Given the description of an element on the screen output the (x, y) to click on. 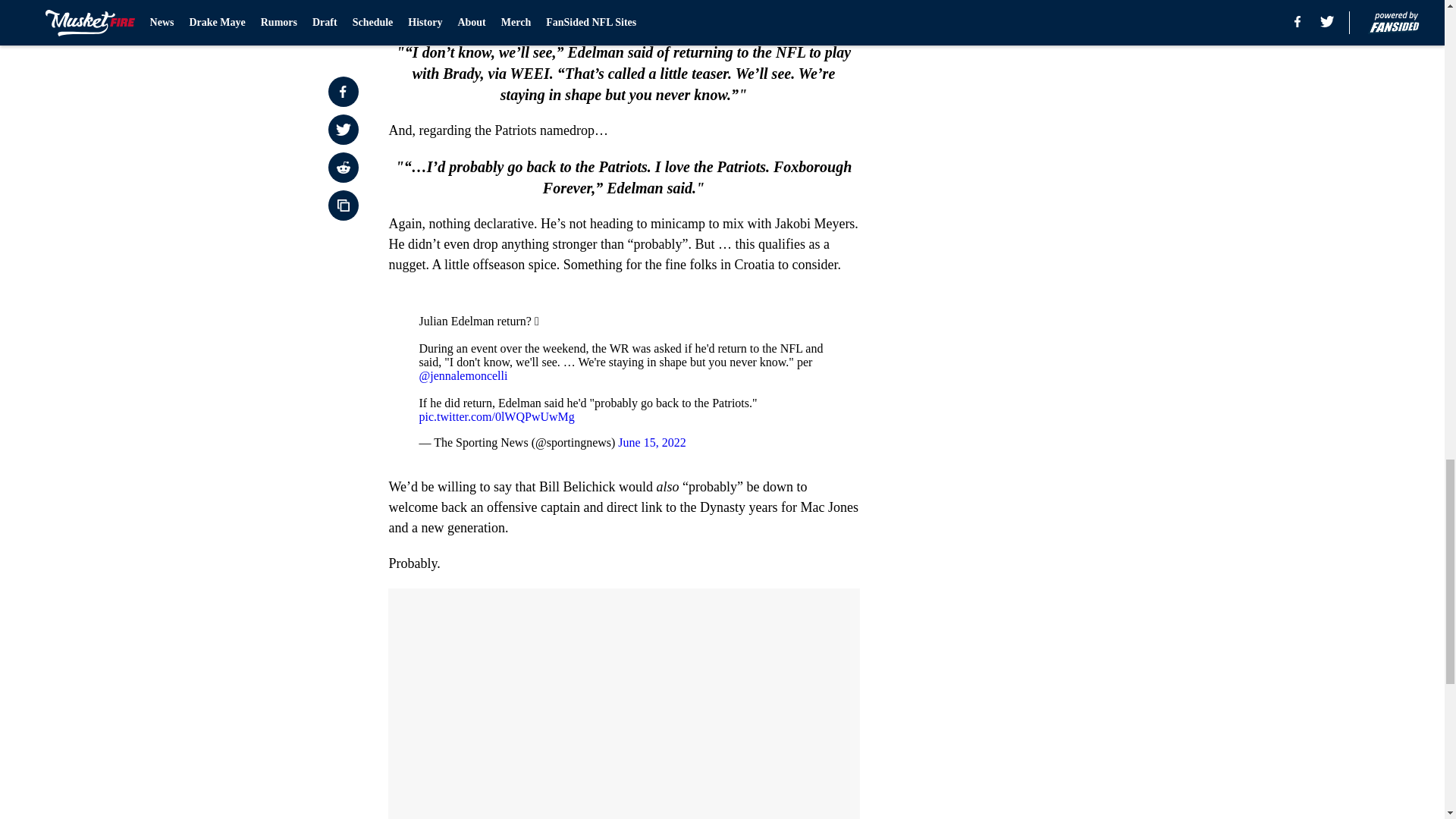
June 15, 2022 (651, 441)
